Given the description of an element on the screen output the (x, y) to click on. 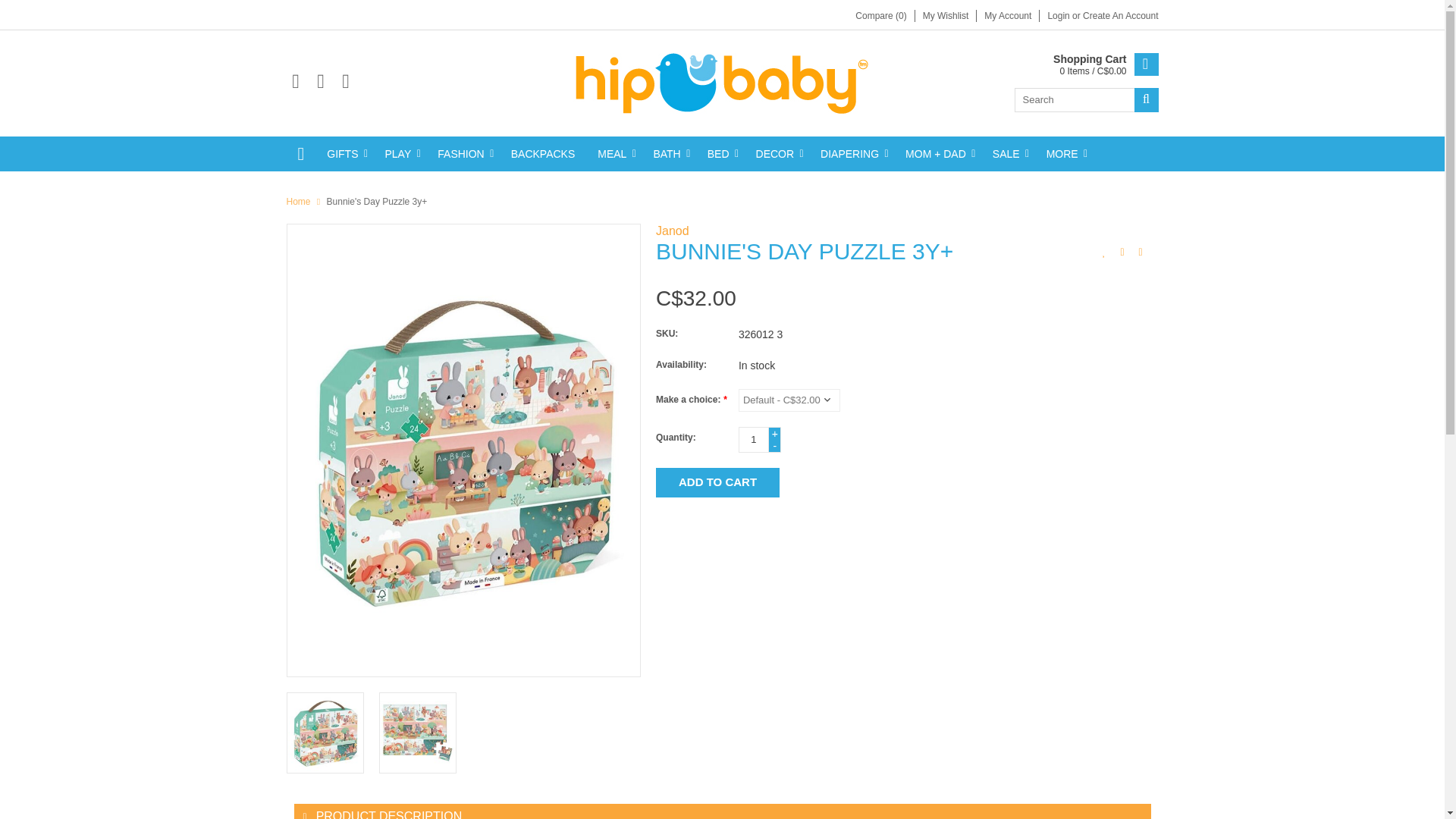
GIFTS (343, 153)
gifts (343, 153)
PLAY (399, 153)
Create An Account (1120, 15)
Search (1146, 99)
My Wishlist (946, 15)
My account (1058, 15)
My Account (1007, 15)
My wishlist (946, 15)
Compare (880, 15)
Login (1058, 15)
1 (753, 439)
Cart (1104, 64)
My account (1120, 15)
